Given the description of an element on the screen output the (x, y) to click on. 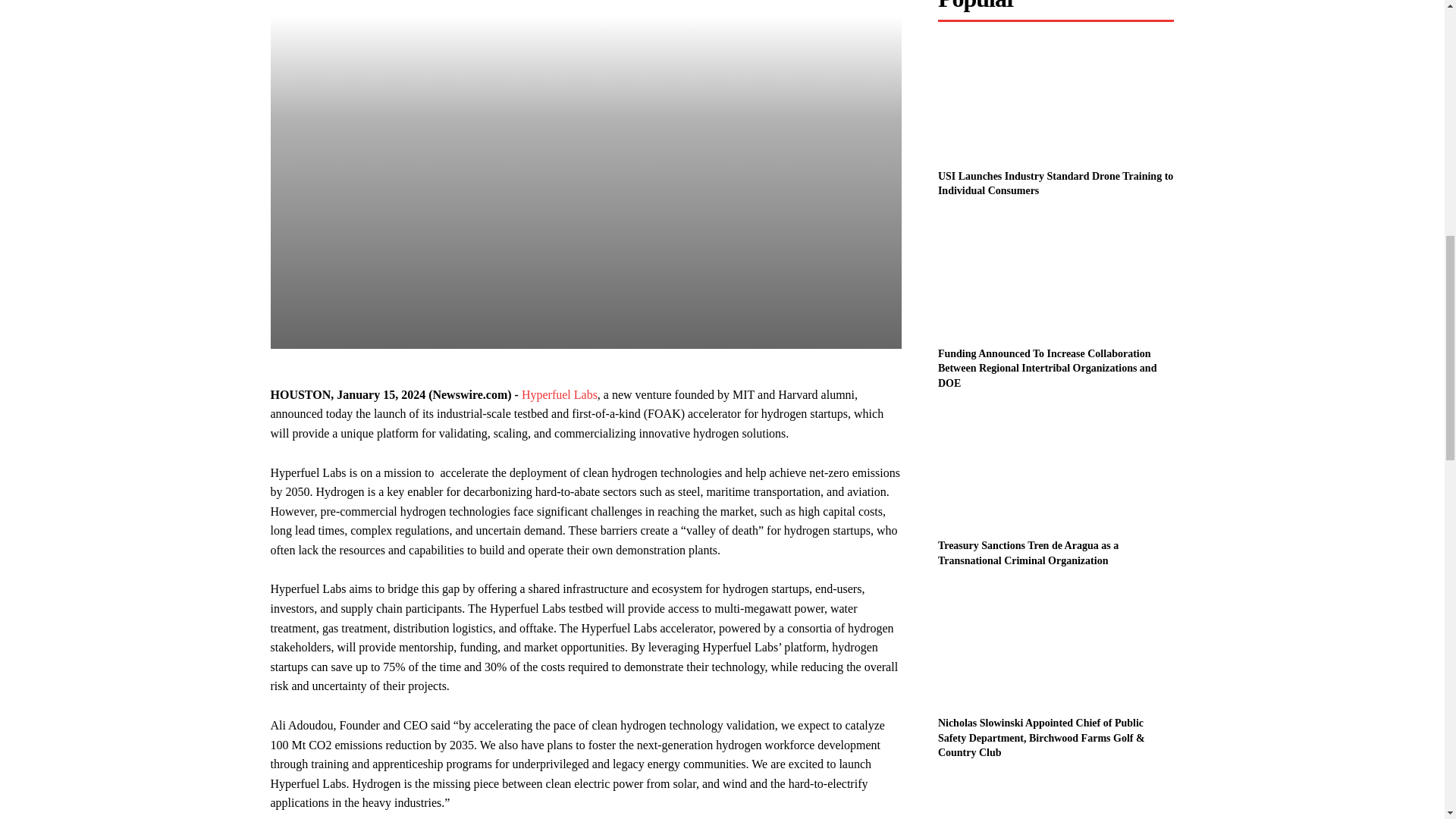
Hyperfuel Labs (558, 394)
